Given the description of an element on the screen output the (x, y) to click on. 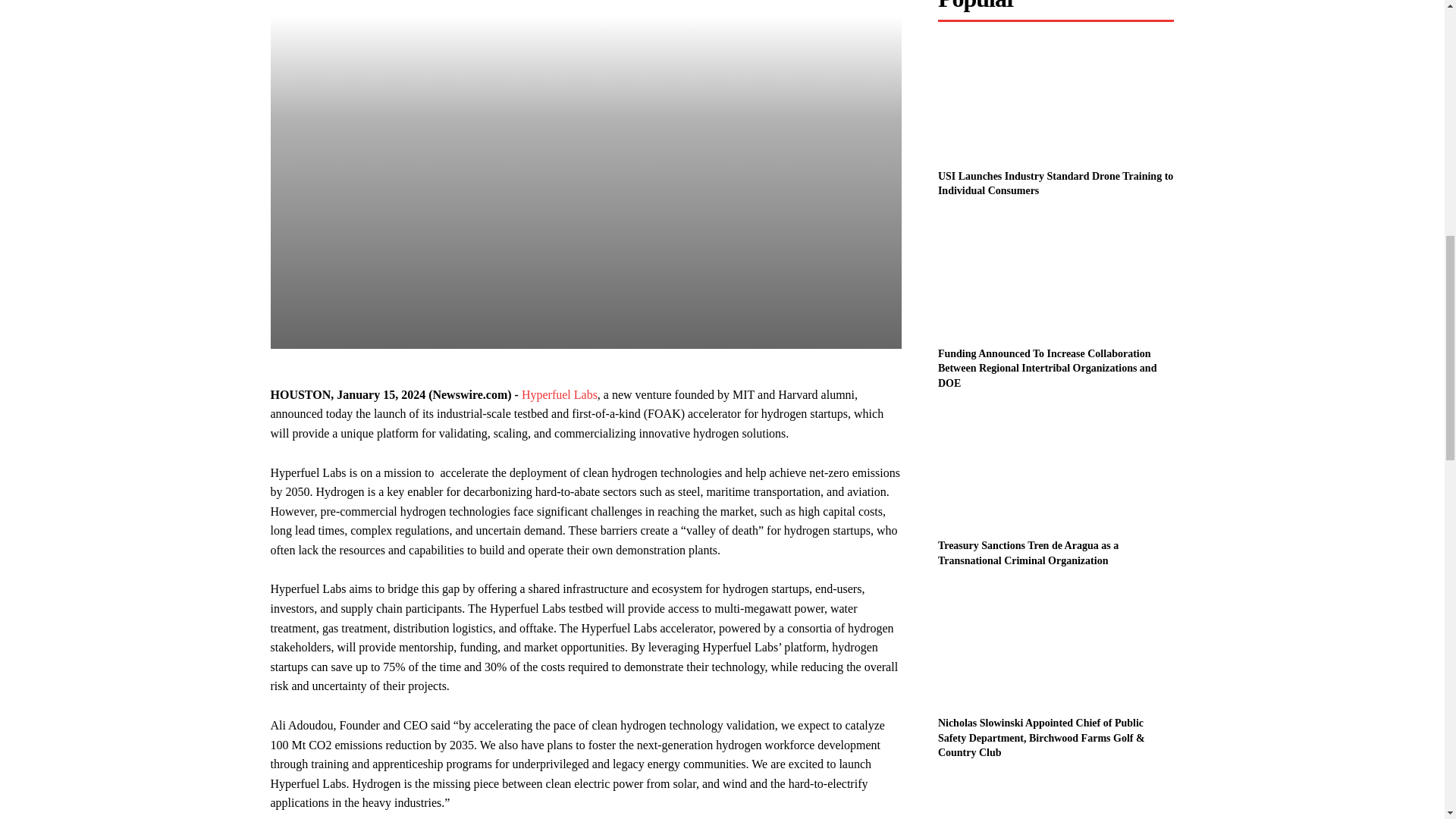
Hyperfuel Labs (558, 394)
